Given the description of an element on the screen output the (x, y) to click on. 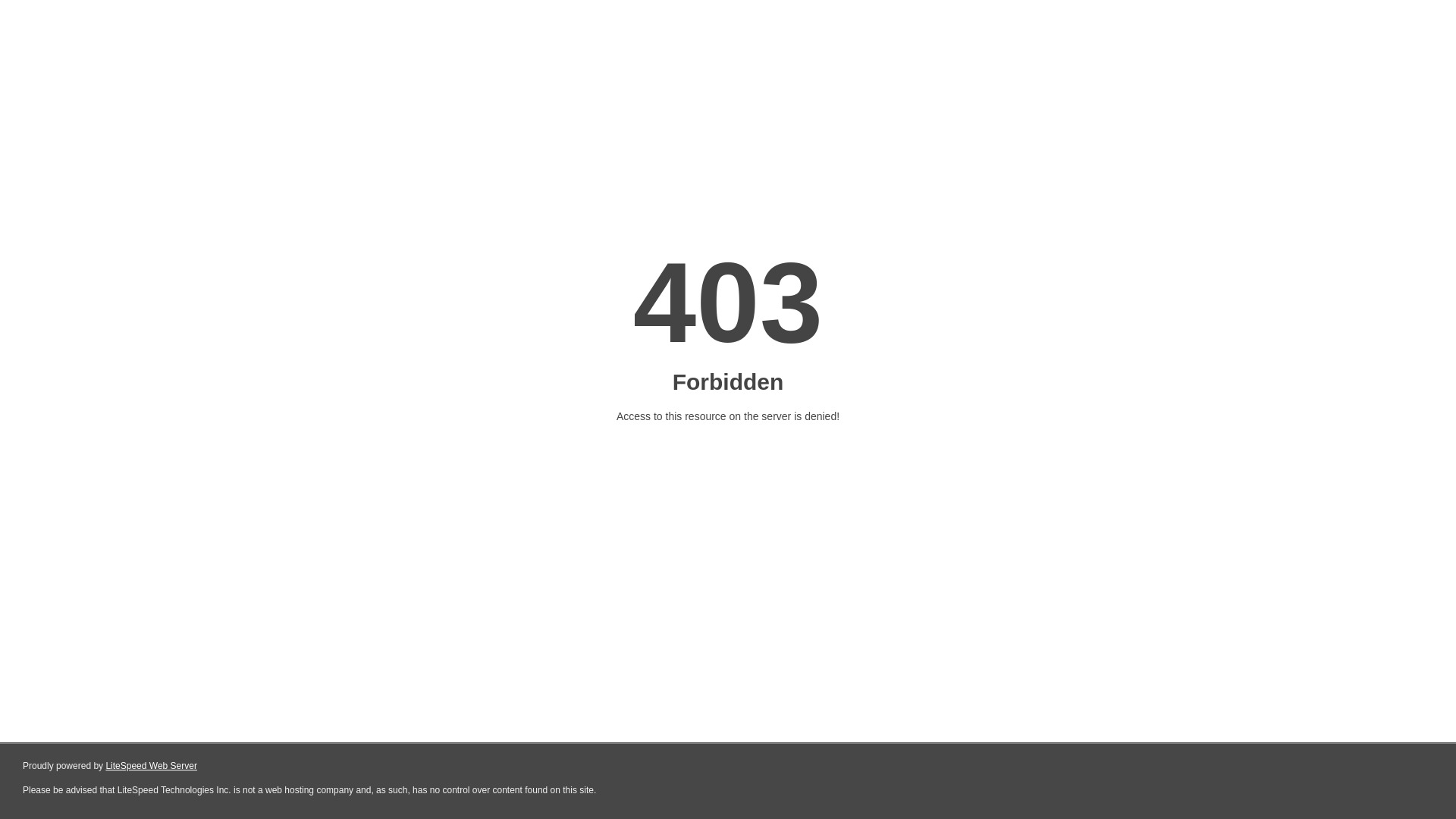
LiteSpeed Web Server Element type: text (151, 765)
